Given the description of an element on the screen output the (x, y) to click on. 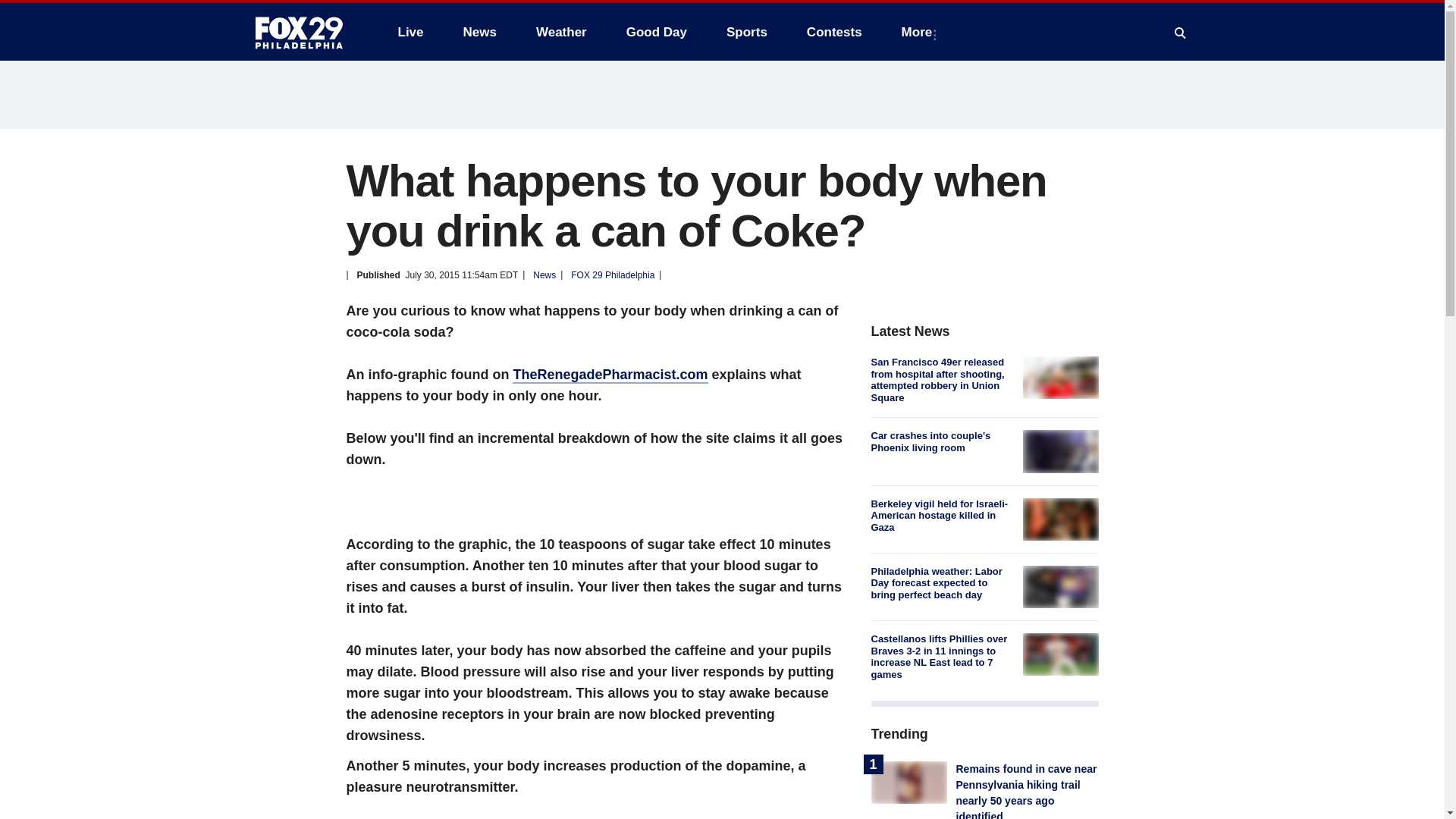
News (479, 32)
Live (410, 32)
Contests (834, 32)
More (919, 32)
Sports (746, 32)
Weather (561, 32)
Good Day (656, 32)
